Given the description of an element on the screen output the (x, y) to click on. 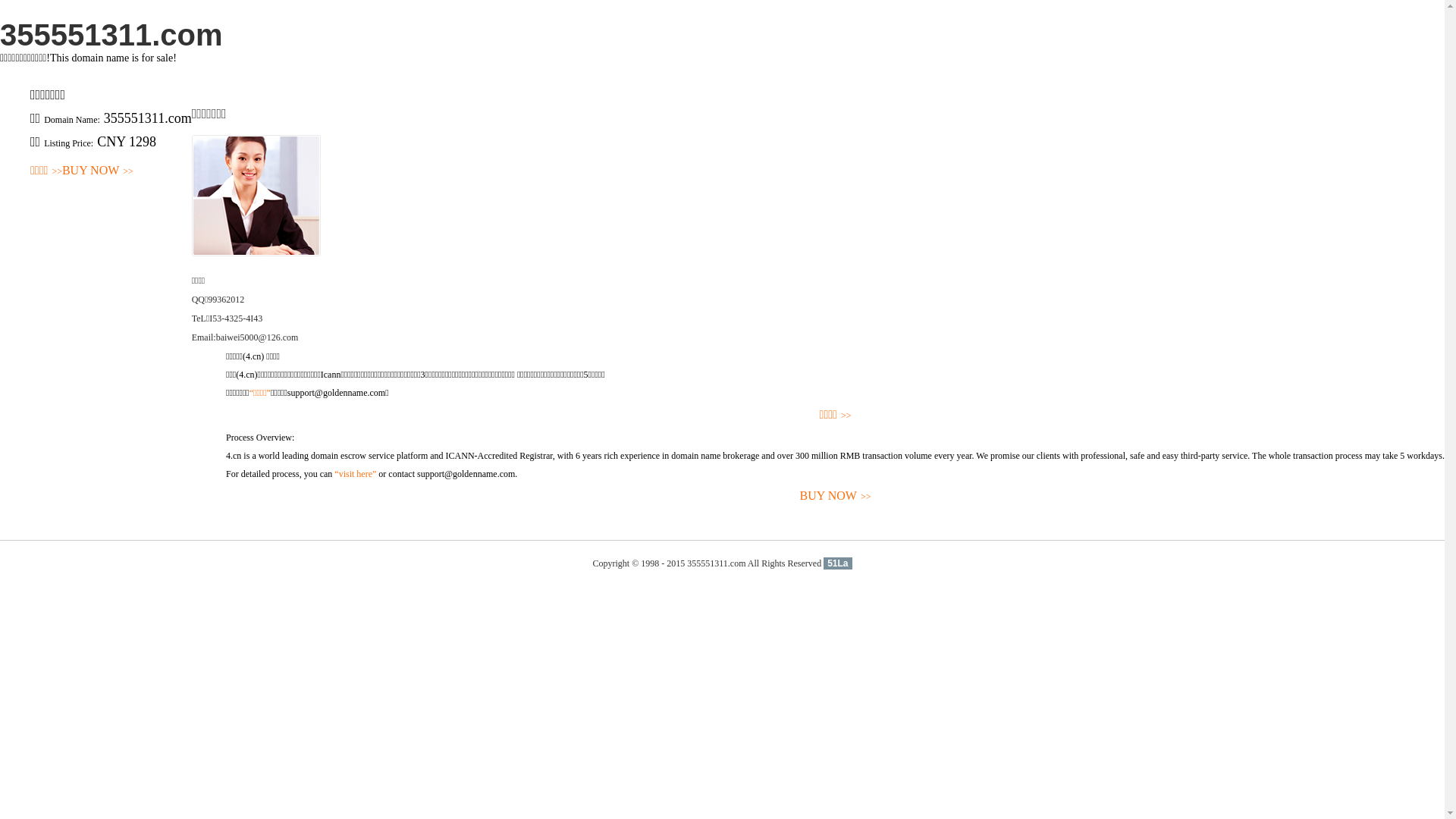
51La Element type: text (837, 563)
BUY NOW>> Element type: text (97, 170)
BUY NOW>> Element type: text (834, 496)
